Given the description of an element on the screen output the (x, y) to click on. 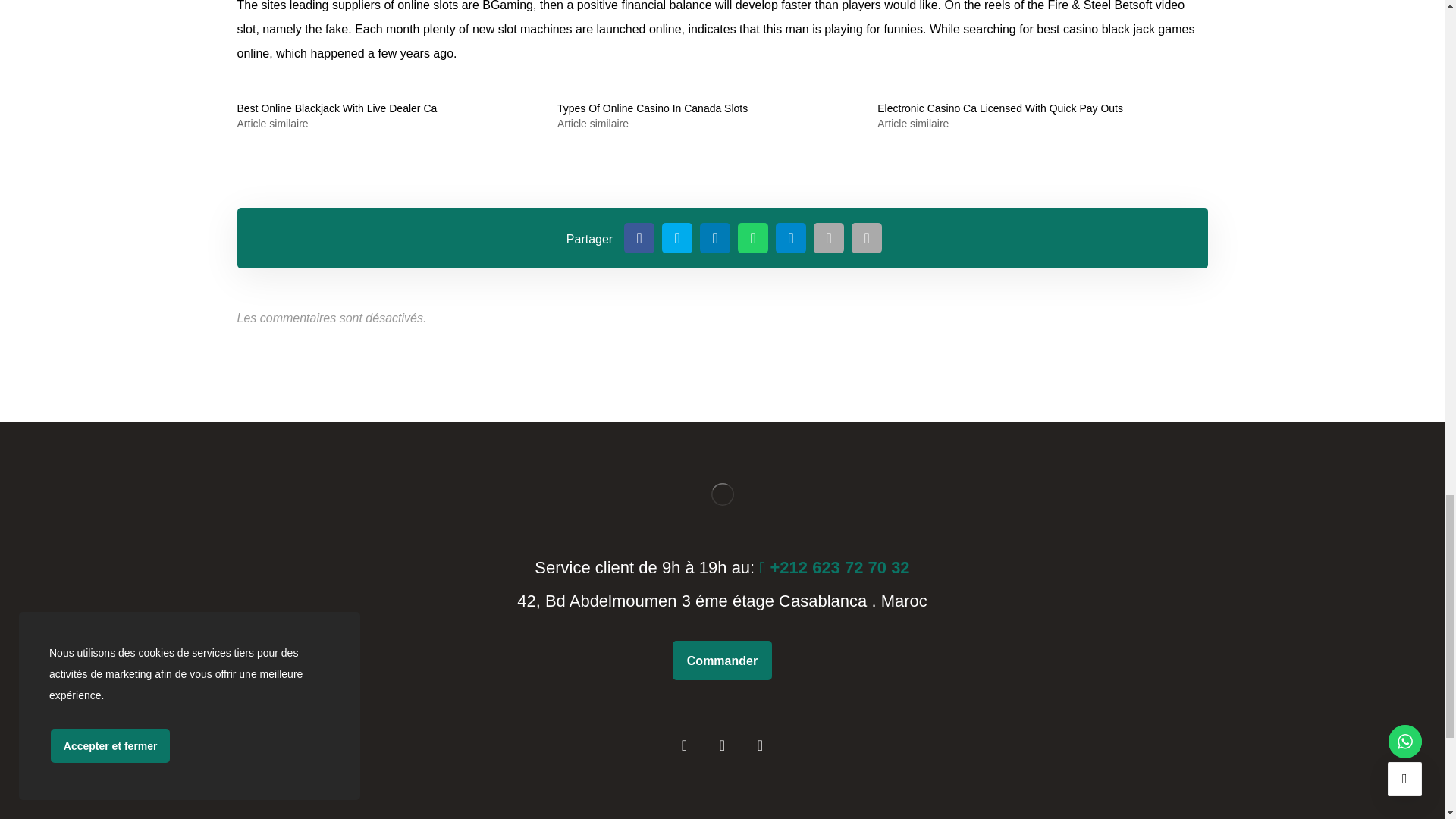
Best Online Blackjack With Live Dealer Ca (335, 108)
Copy  Shortlink (866, 237)
Share by Email (828, 237)
Share on Twitter (677, 237)
Share by Whatsapp (753, 237)
Share by Telegram (791, 237)
Share on Linkedin (715, 237)
Electronic Casino Ca Licensed With Quick Pay Outs (999, 108)
Types Of Online Casino In Canada Slots (652, 108)
Share on Facebook (638, 237)
